Given the description of an element on the screen output the (x, y) to click on. 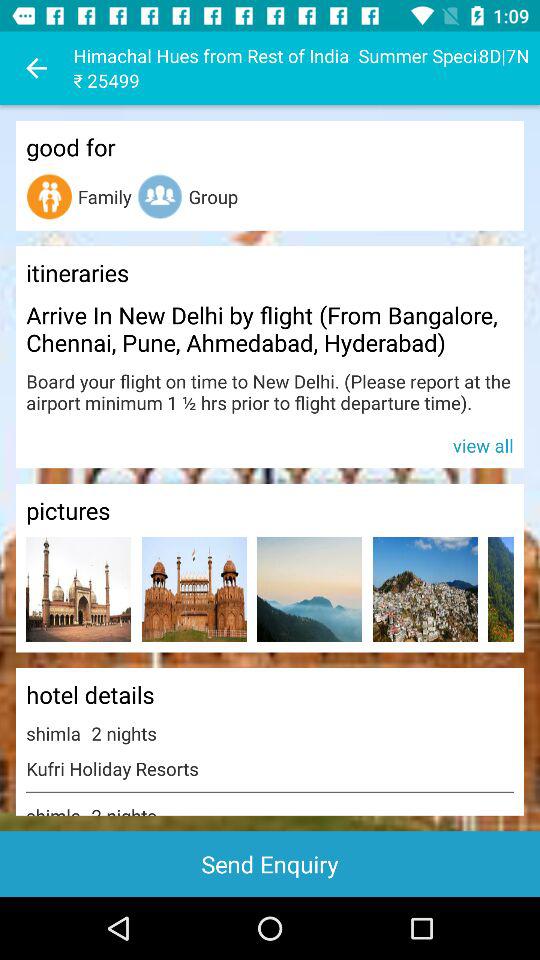
open picture (193, 589)
